Given the description of an element on the screen output the (x, y) to click on. 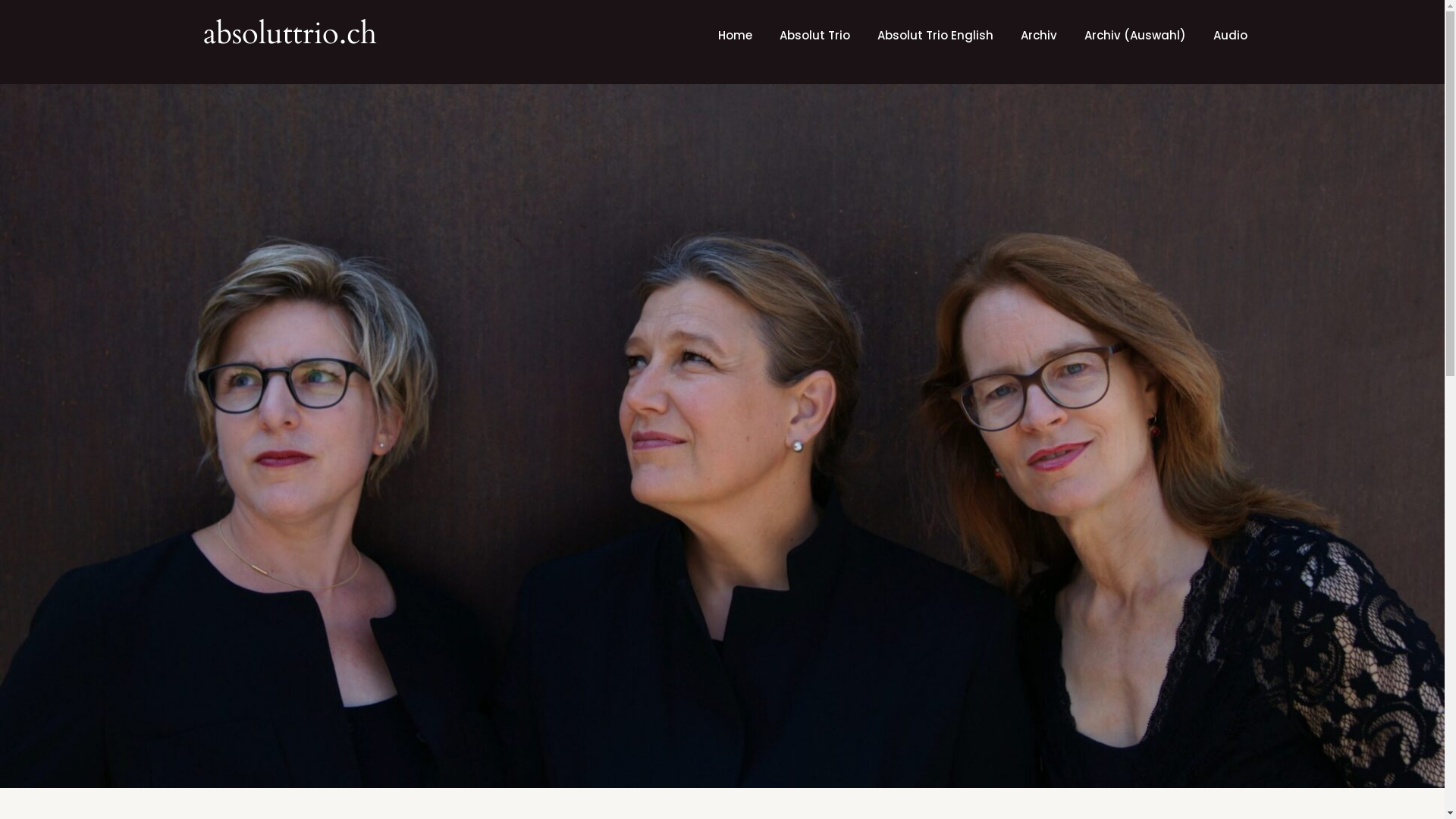
Archiv Element type: text (1038, 36)
Skip to Content Element type: text (0, 0)
absoluttrio.ch Element type: text (289, 33)
Absolut Trio English Element type: text (934, 36)
Home Element type: text (734, 36)
Audio Element type: text (1230, 36)
Absolut Trio Element type: text (814, 36)
Archiv (Auswahl) Element type: text (1134, 36)
